Given the description of an element on the screen output the (x, y) to click on. 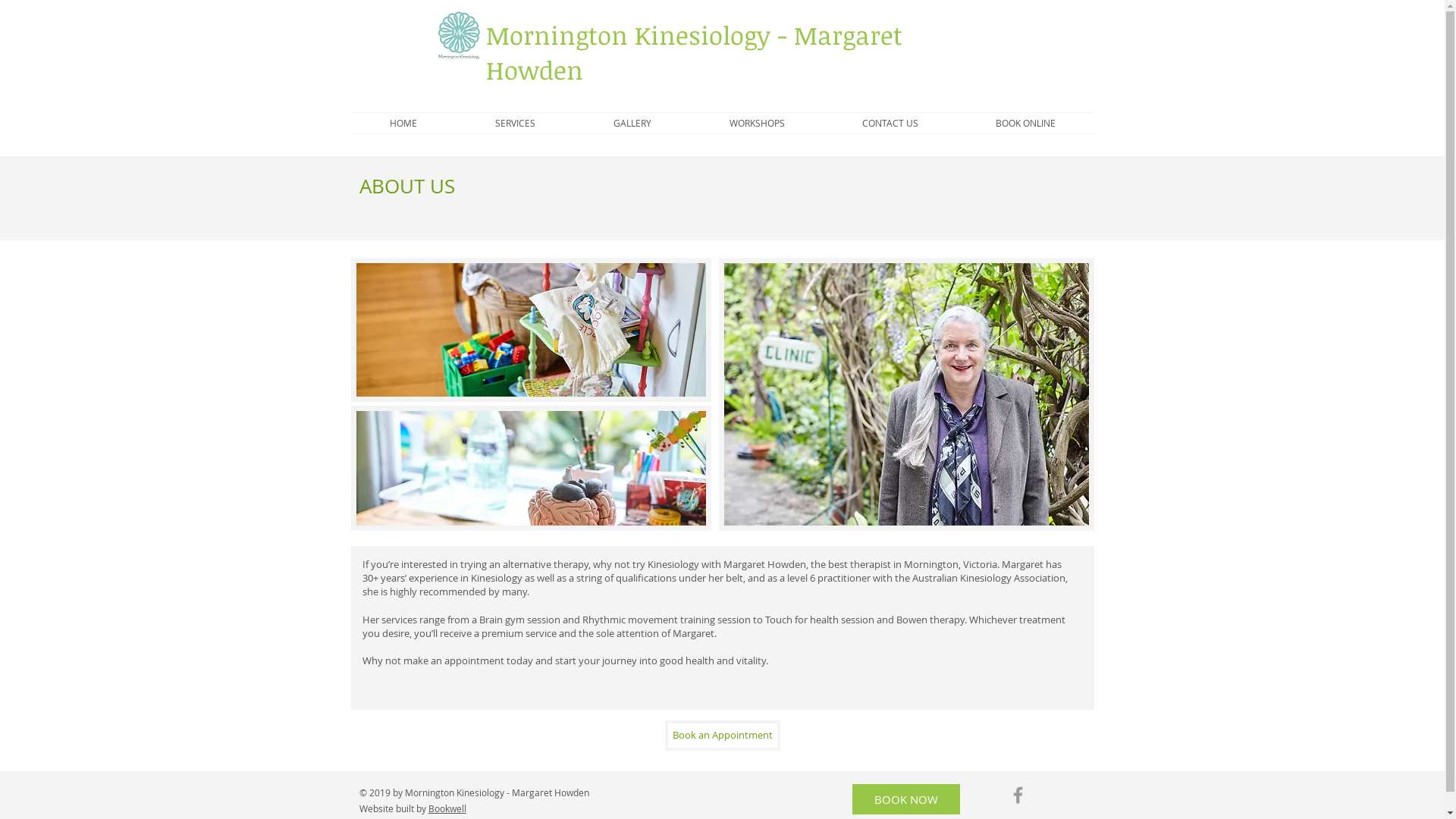
GALLERY Element type: text (632, 122)
CONTACT US Element type: text (890, 122)
Book an Appointment Element type: text (721, 735)
BOOK ONLINE Element type: text (1025, 122)
BOOK NOW Element type: text (906, 799)
Mornington Kinesiology - Margaret Howden Element type: text (693, 52)
SERVICES Element type: text (515, 122)
HOME Element type: text (402, 122)
WORKSHOPS Element type: text (756, 122)
Bookwell Element type: text (446, 808)
